Given the description of an element on the screen output the (x, y) to click on. 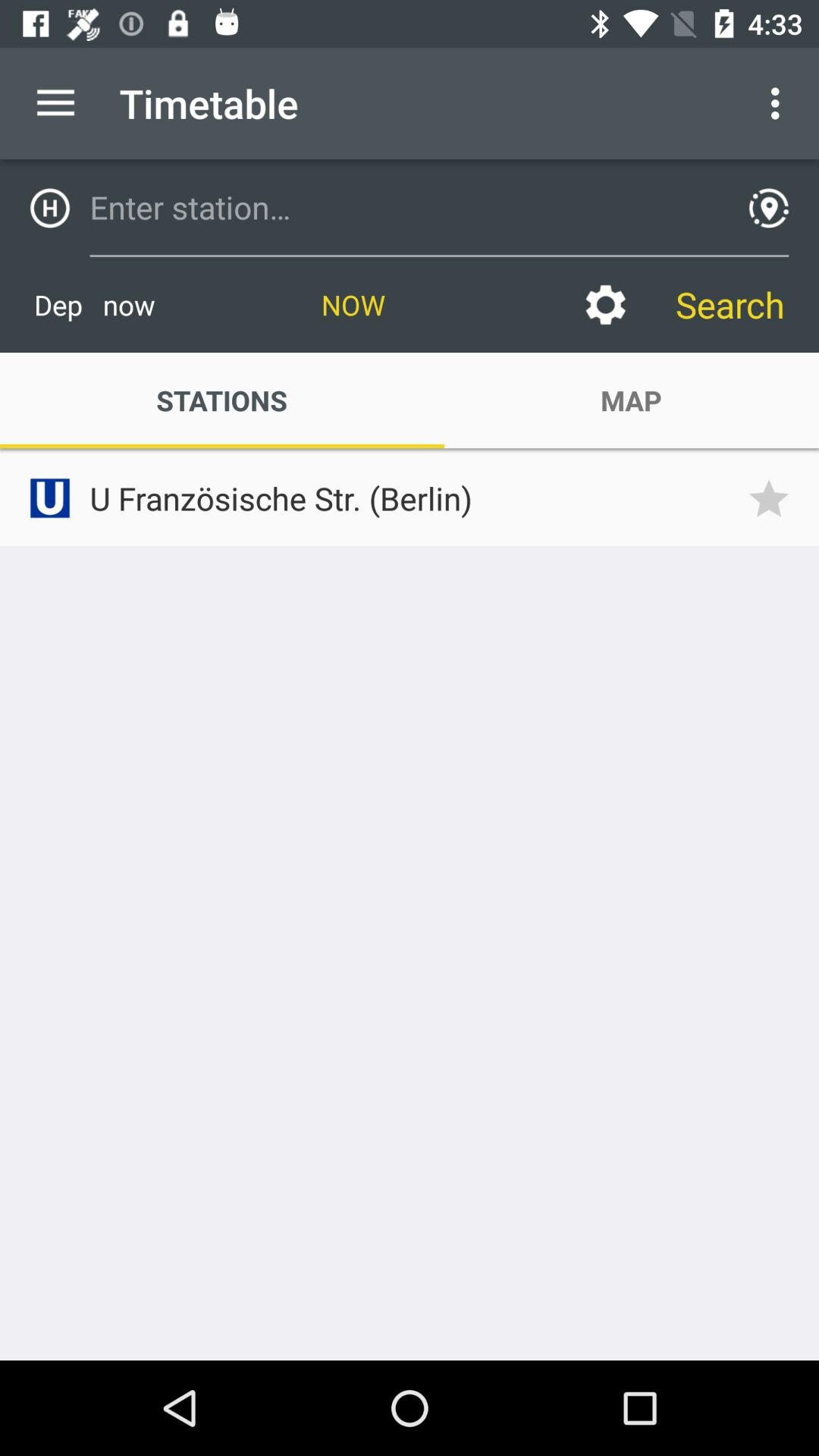
choose the icon to the left of the timetable icon (55, 103)
